Given the description of an element on the screen output the (x, y) to click on. 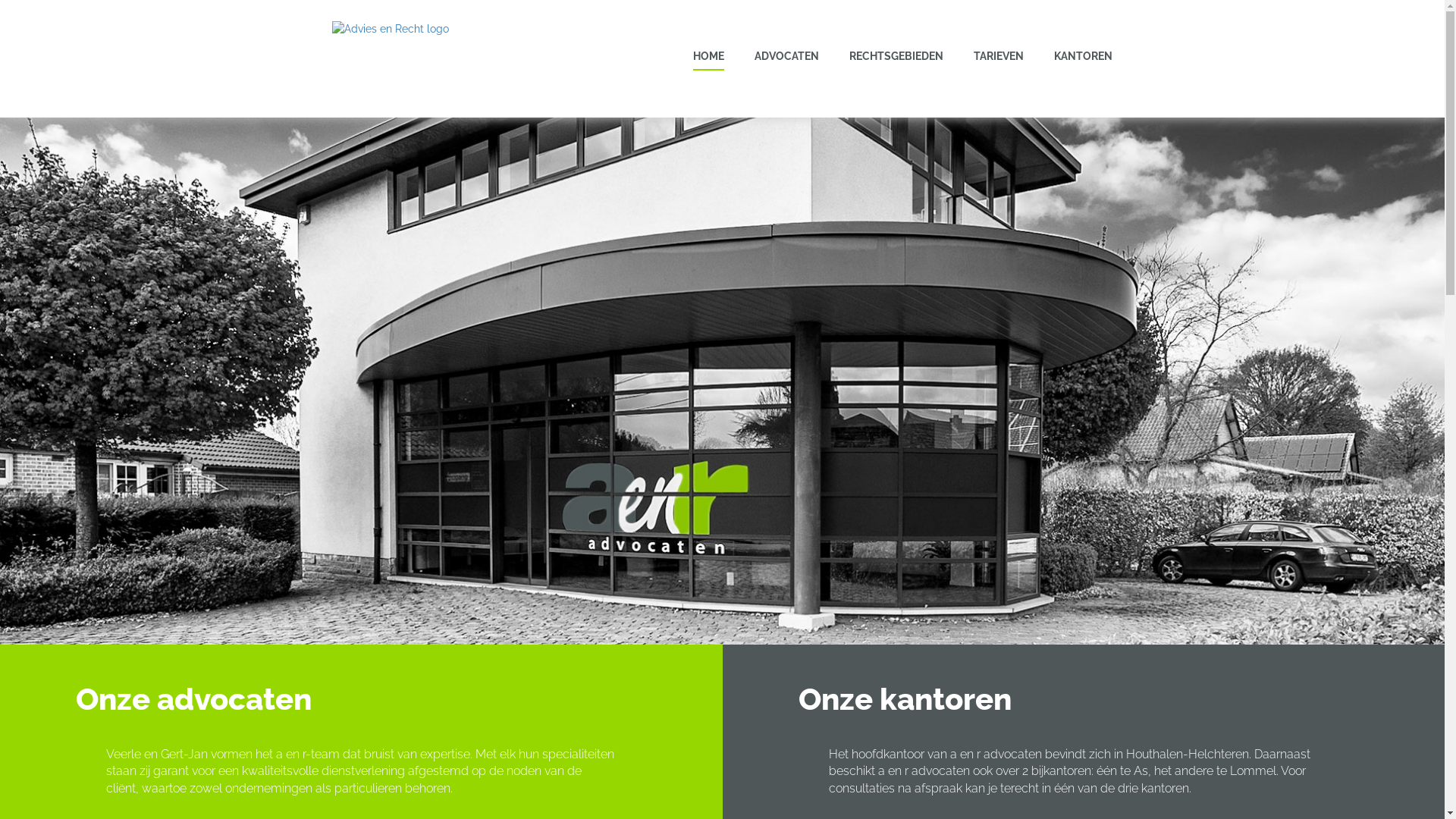
KANTOREN Element type: text (1083, 56)
HOME Element type: text (708, 56)
ADVOCATEN Element type: text (786, 56)
RECHTSGEBIEDEN Element type: text (896, 56)
TARIEVEN Element type: text (998, 56)
